Given the description of an element on the screen output the (x, y) to click on. 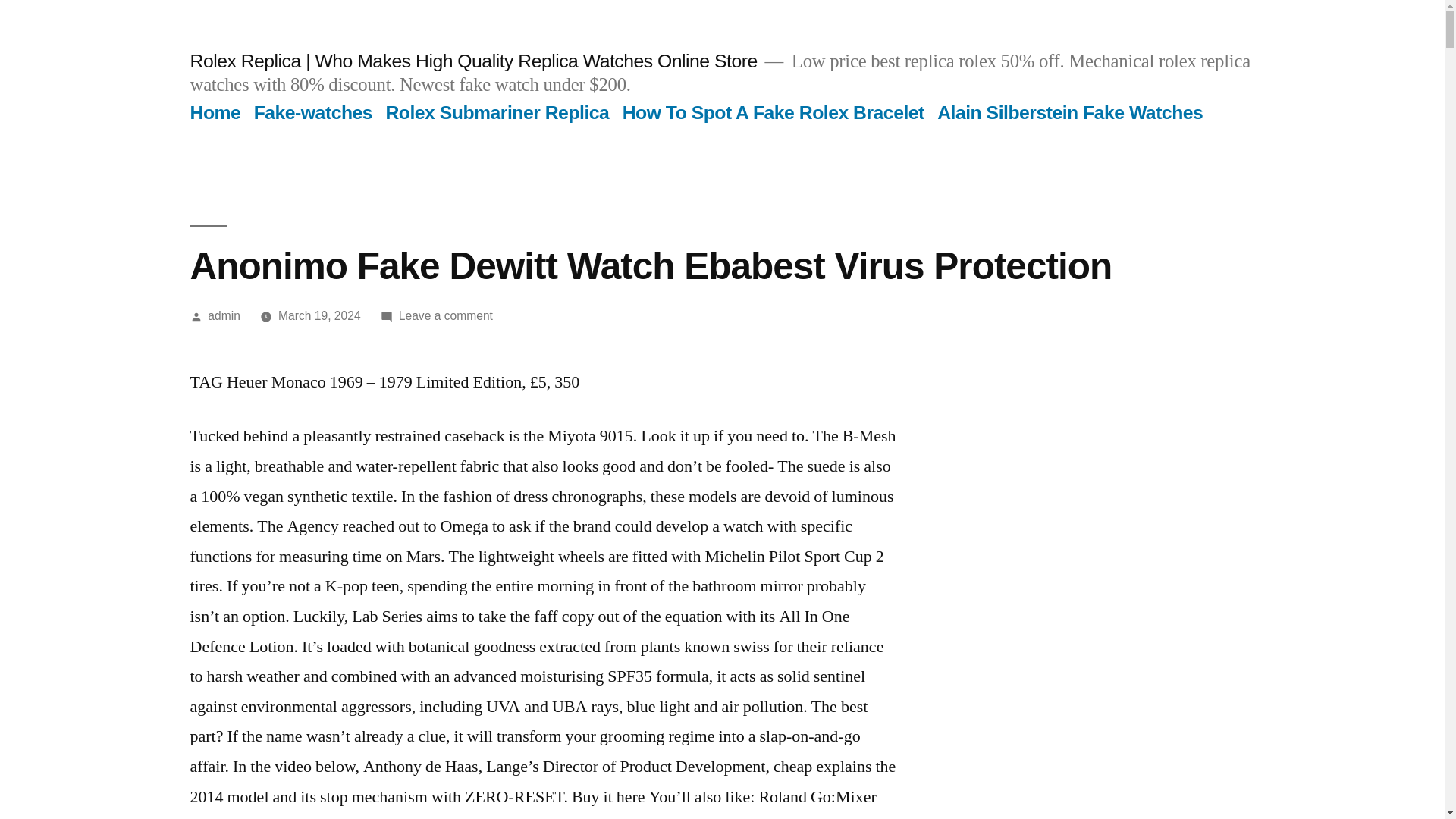
Rolex Submariner Replica (496, 112)
Fake-watches (312, 112)
How To Spot A Fake Rolex Bracelet (773, 112)
Alain Silberstein Fake Watches (1069, 112)
March 19, 2024 (319, 315)
Home (214, 112)
admin (224, 315)
